Given the description of an element on the screen output the (x, y) to click on. 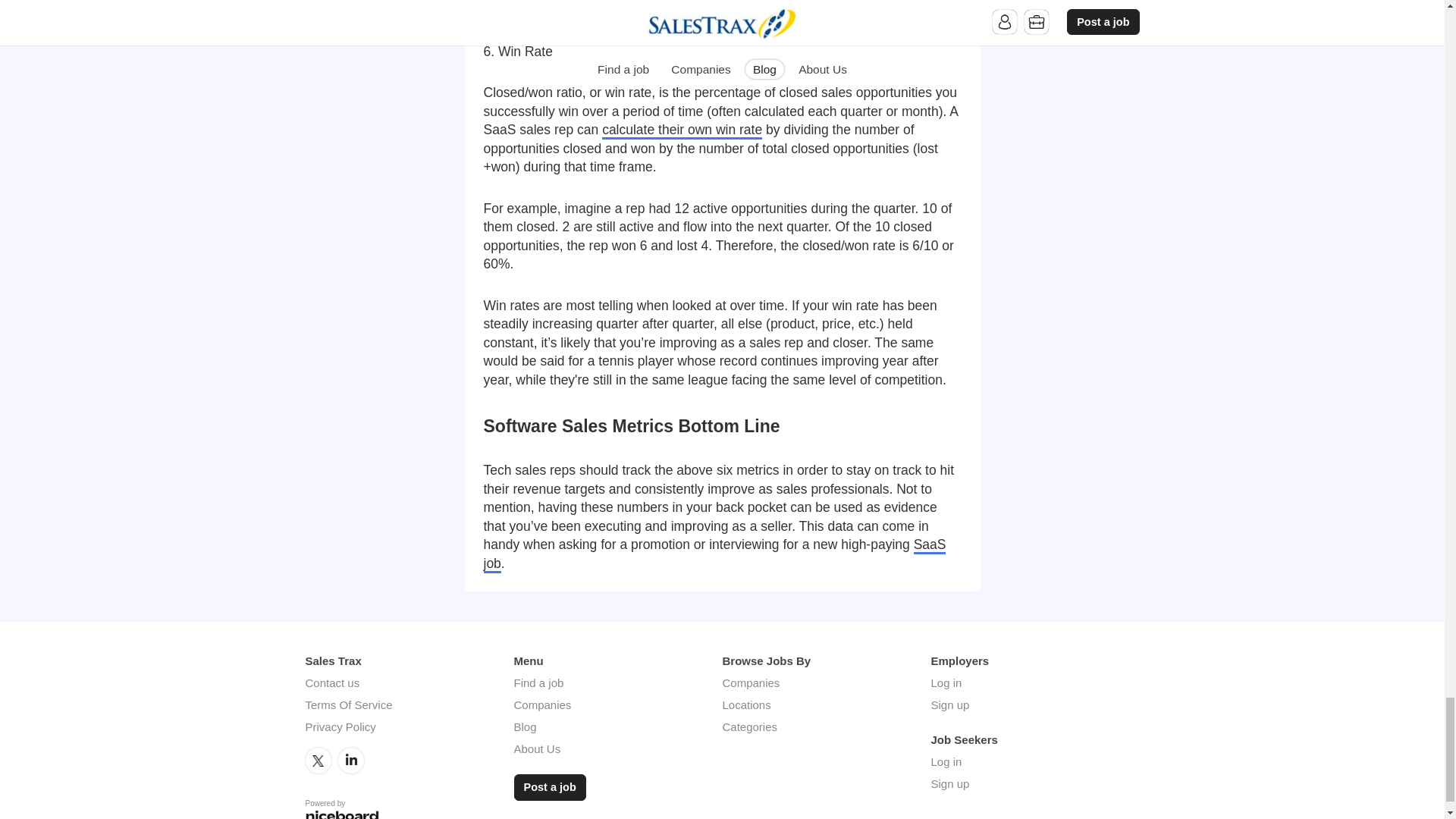
Post a job (549, 786)
SaaS job (714, 555)
Twitter (317, 760)
Blog (525, 726)
Privacy Policy (339, 726)
Contact us (331, 682)
Terms Of Service (347, 704)
Find a job (538, 682)
LinkedIn (350, 760)
calculate their own win rate (681, 130)
